Given the description of an element on the screen output the (x, y) to click on. 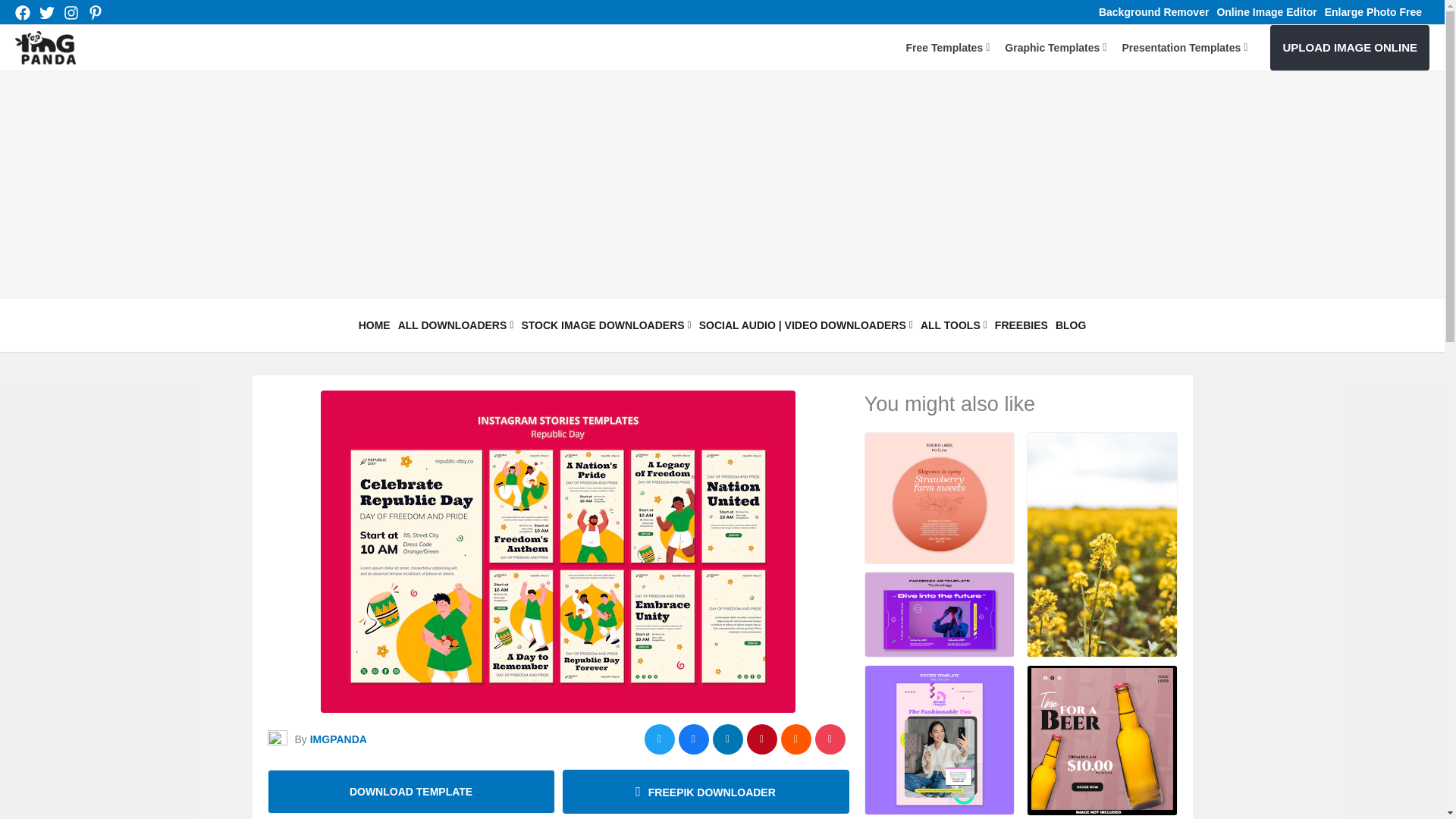
Presentation Templates (1184, 47)
Background Remover (1153, 11)
Online Image Editor (1265, 11)
Graphic Templates (1055, 47)
Enlarge Photo Free (1373, 11)
UPLOAD IMAGE ONLINE (1349, 47)
Free Templates (947, 47)
